Given the description of an element on the screen output the (x, y) to click on. 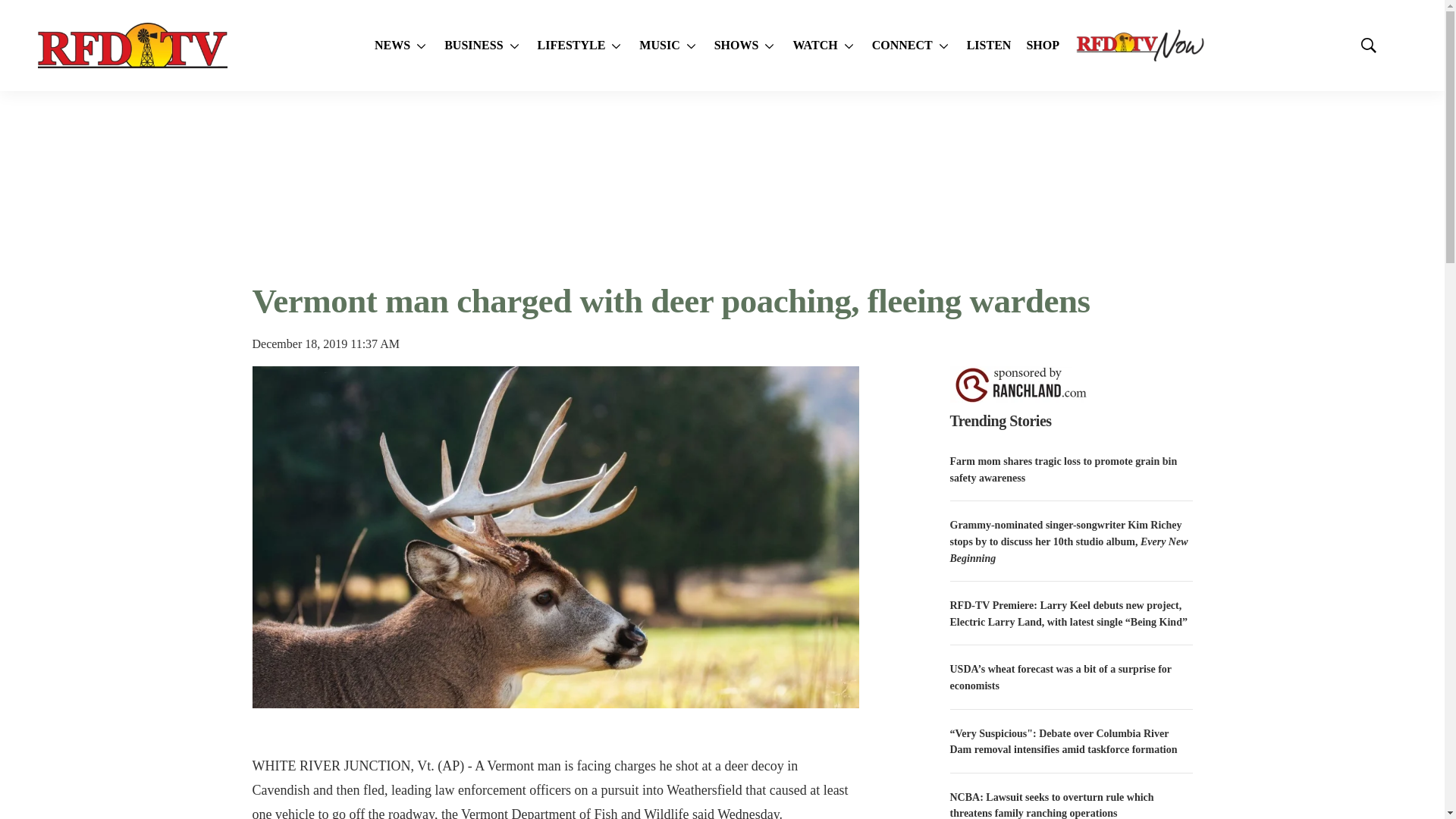
3rd party ad content (721, 185)
